Given the description of an element on the screen output the (x, y) to click on. 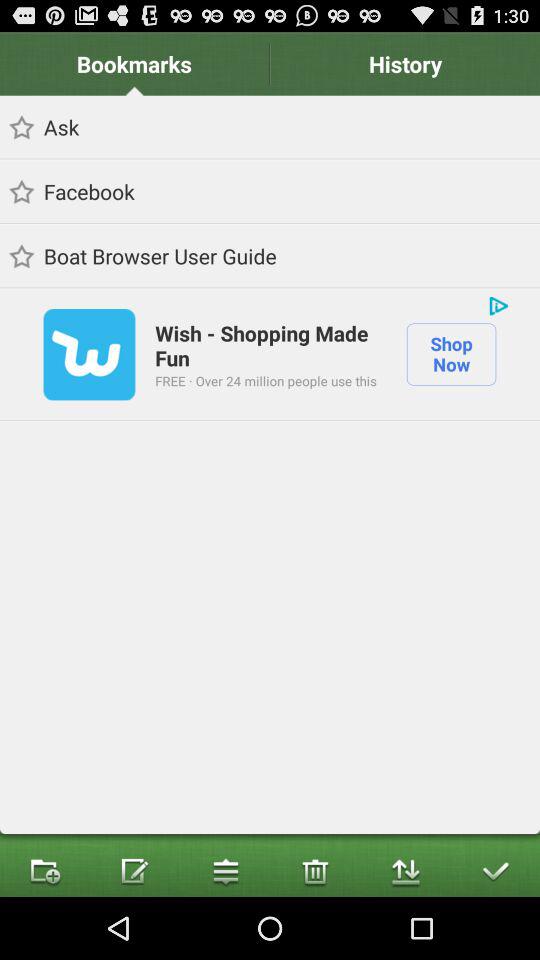
turn off wish shopping made icon (270, 344)
